Given the description of an element on the screen output the (x, y) to click on. 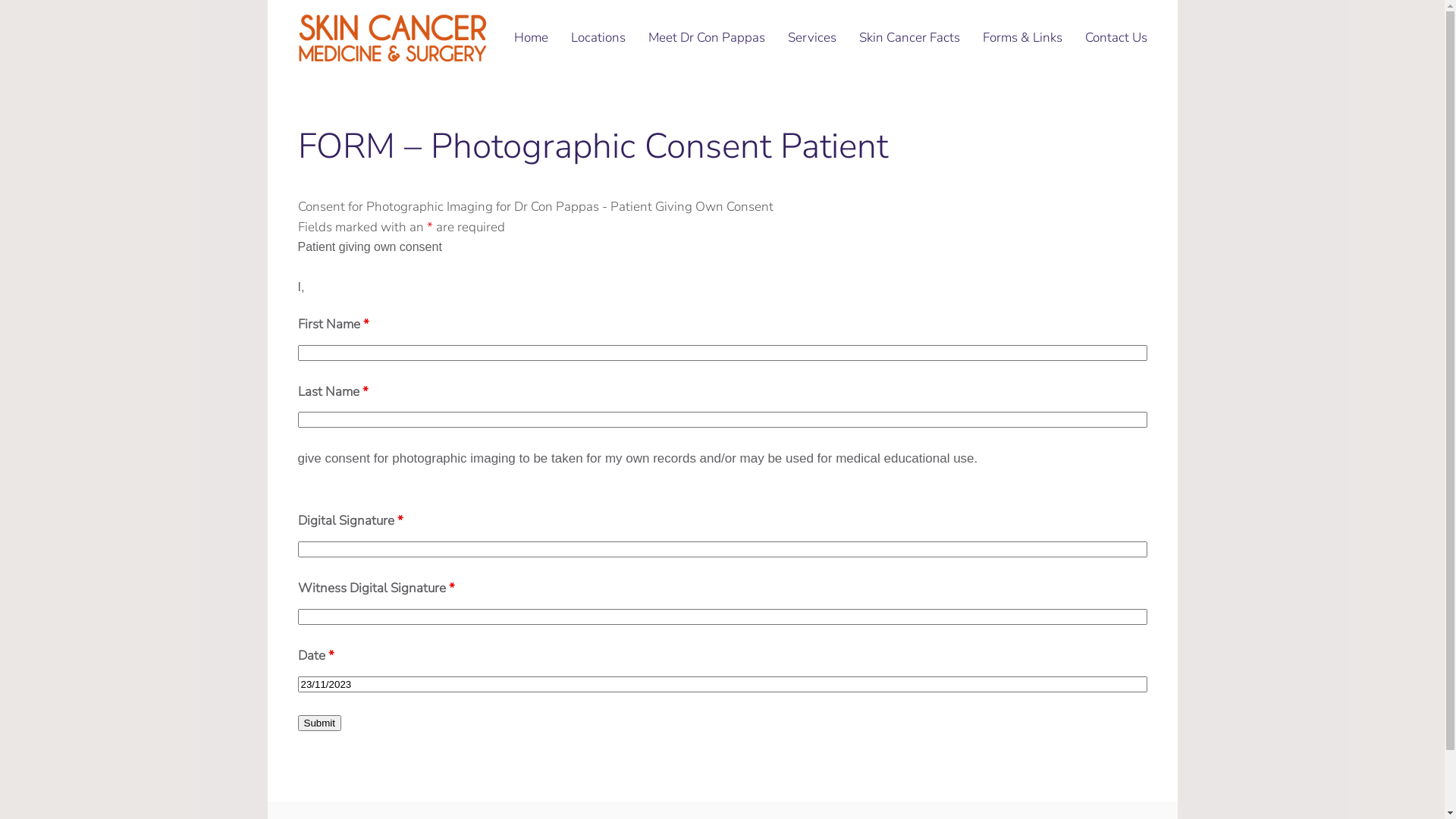
Forms & Links Element type: text (1021, 37)
Services Element type: text (811, 37)
Locations Element type: text (598, 37)
Meet Dr Con Pappas Element type: text (706, 37)
Contact Us Element type: text (1115, 37)
Home Element type: text (530, 37)
Skin Cancer Facts Element type: text (909, 37)
Submit Element type: text (318, 723)
